Given the description of an element on the screen output the (x, y) to click on. 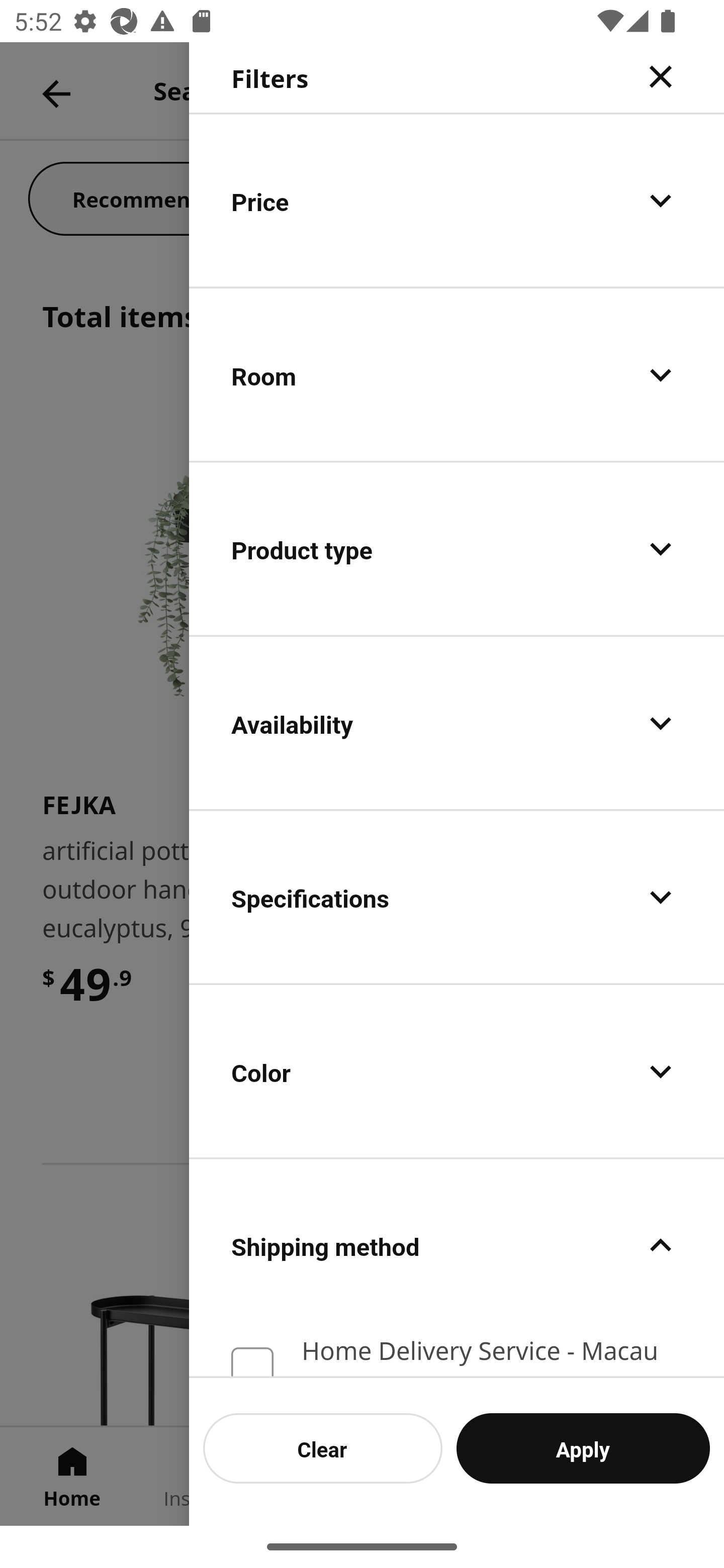
Price (456, 200)
Room (456, 374)
Product type (456, 548)
Availability (456, 722)
Specifications (456, 896)
Color (456, 1070)
Shipping method (456, 1244)
Home Delivery Service - Macau (47) (456, 1352)
Clear (322, 1447)
Apply (583, 1447)
